Given the description of an element on the screen output the (x, y) to click on. 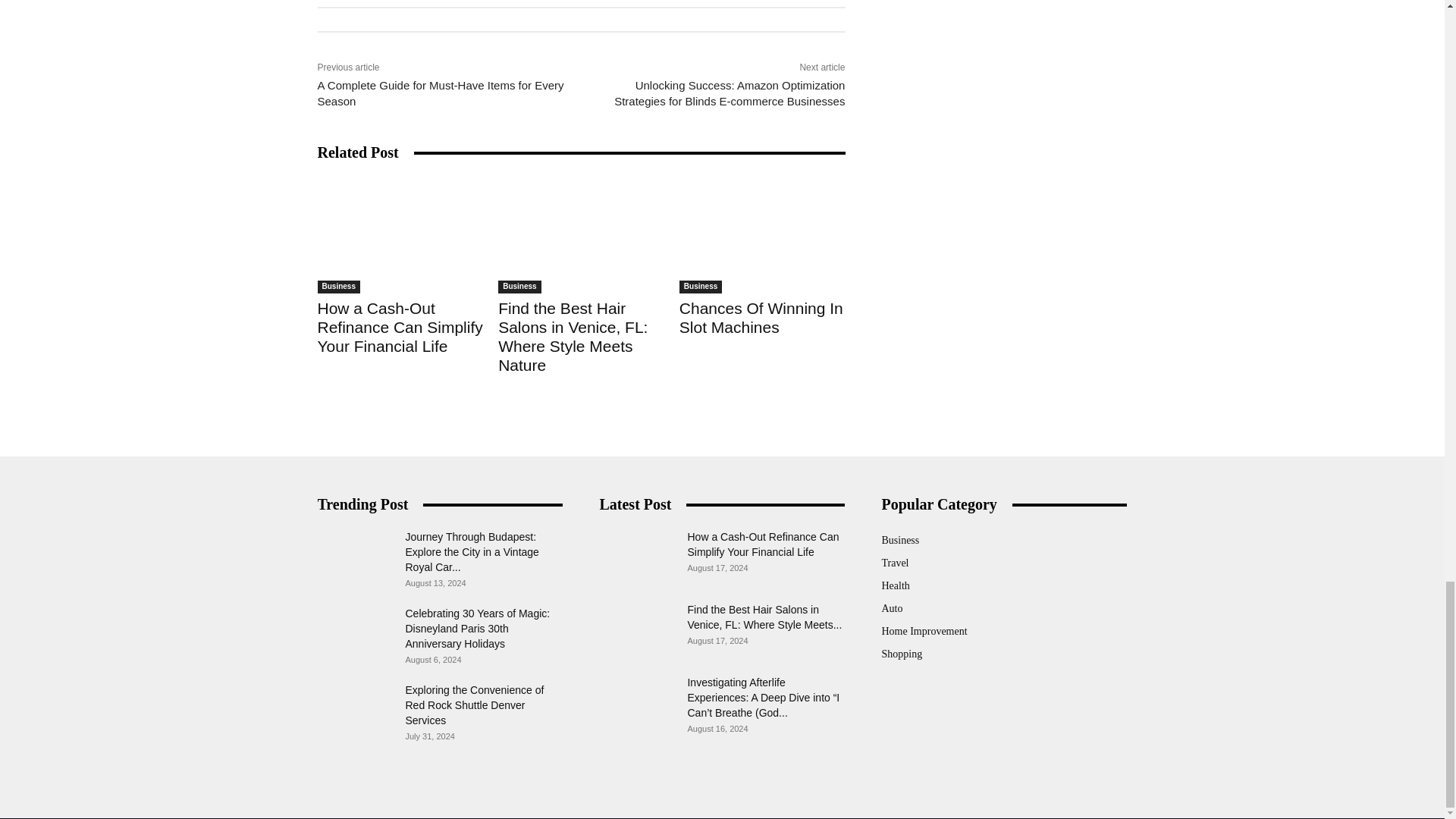
How a Cash-Out Refinance Can Simplify Your Financial Life (400, 235)
A Complete Guide for Must-Have Items for Every Season (440, 92)
How a Cash-Out Refinance Can Simplify Your Financial Life (399, 326)
